Given the description of an element on the screen output the (x, y) to click on. 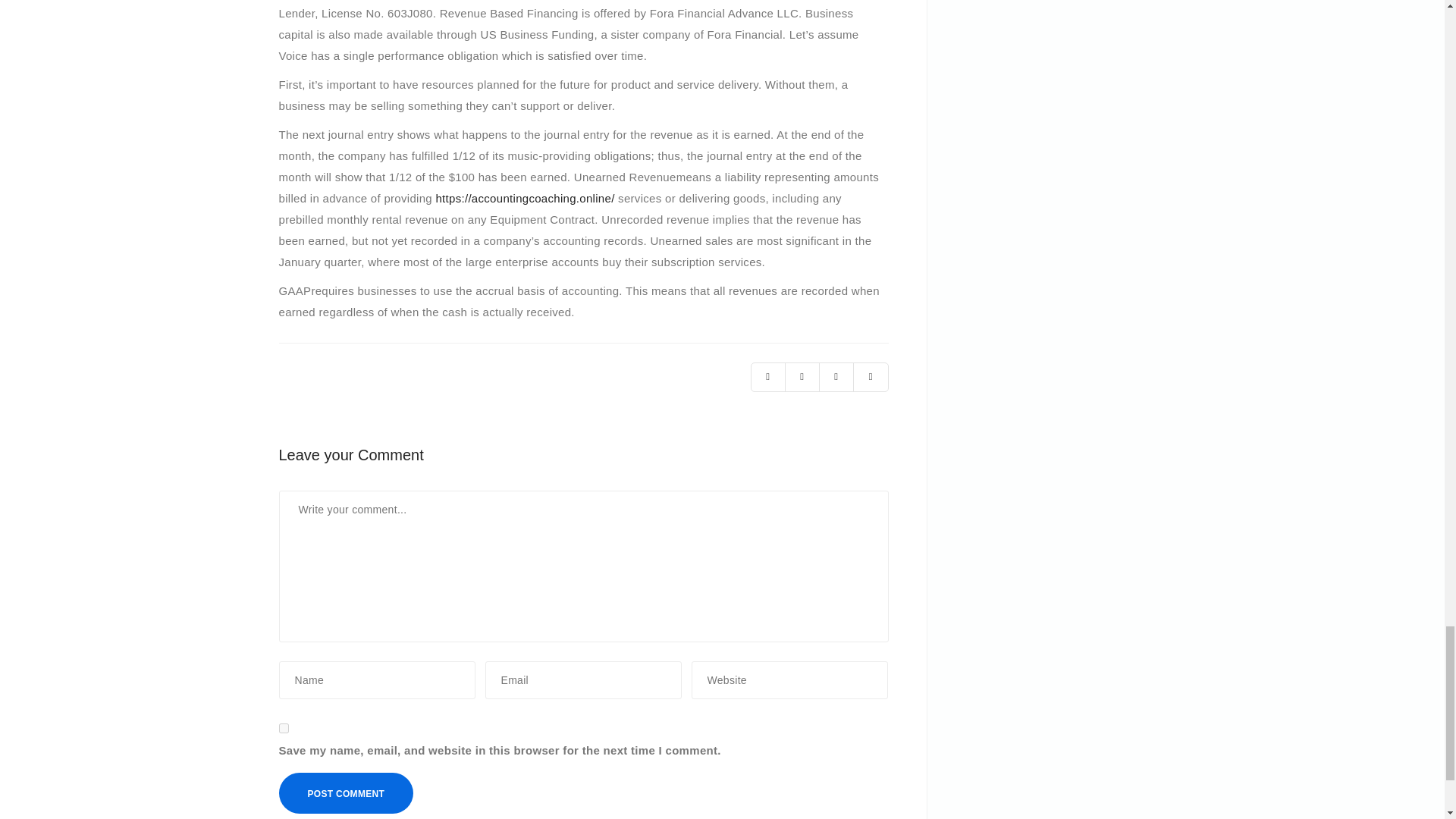
Share On Linkedin (835, 377)
yes (283, 728)
Post Comment (346, 793)
Post Comment (346, 793)
Share On Twitter (767, 377)
Share On Facebook (802, 377)
